Given the description of an element on the screen output the (x, y) to click on. 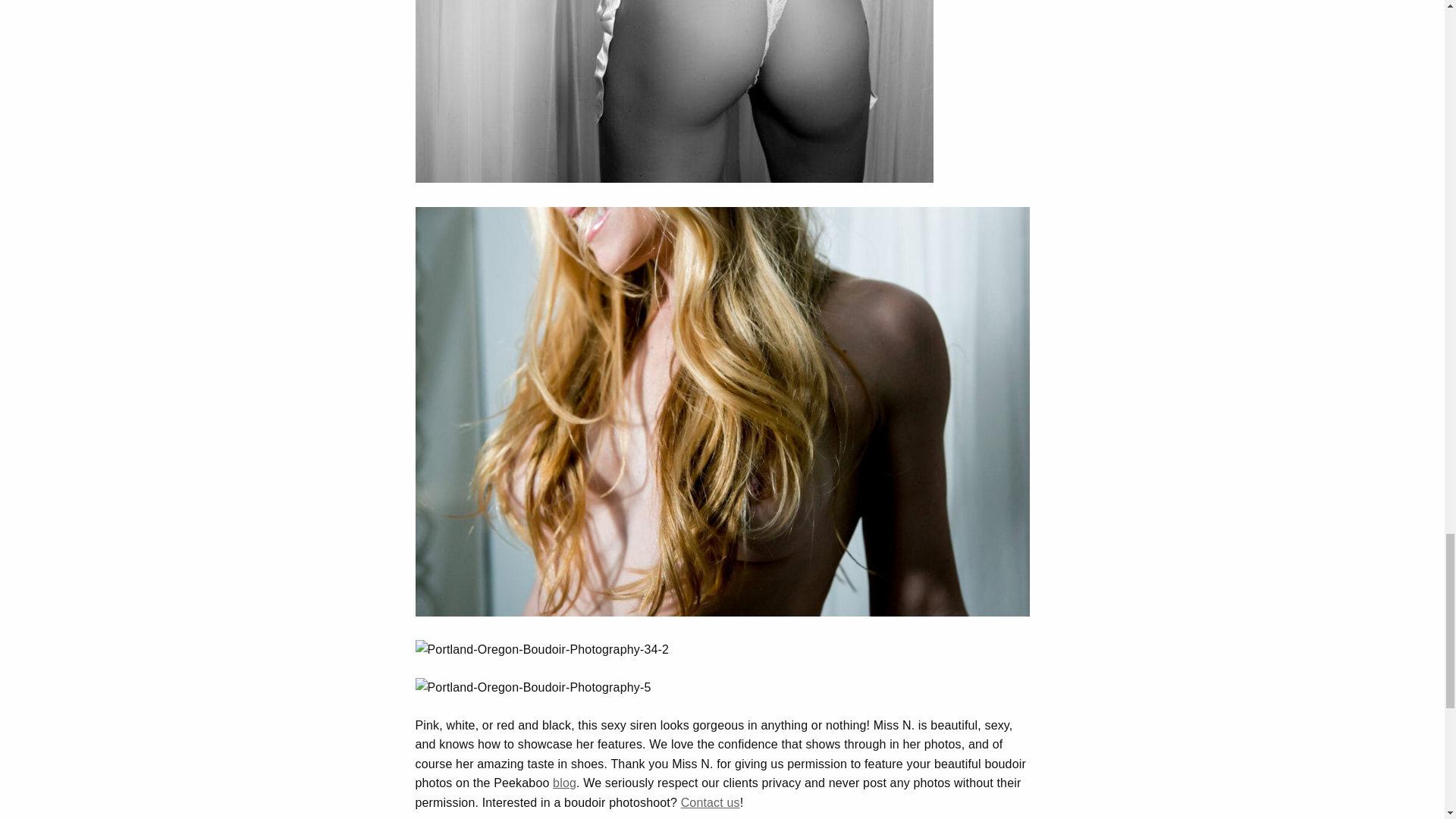
blog (564, 782)
Contact us (710, 802)
blog (564, 782)
Contact (710, 802)
